Given the description of an element on the screen output the (x, y) to click on. 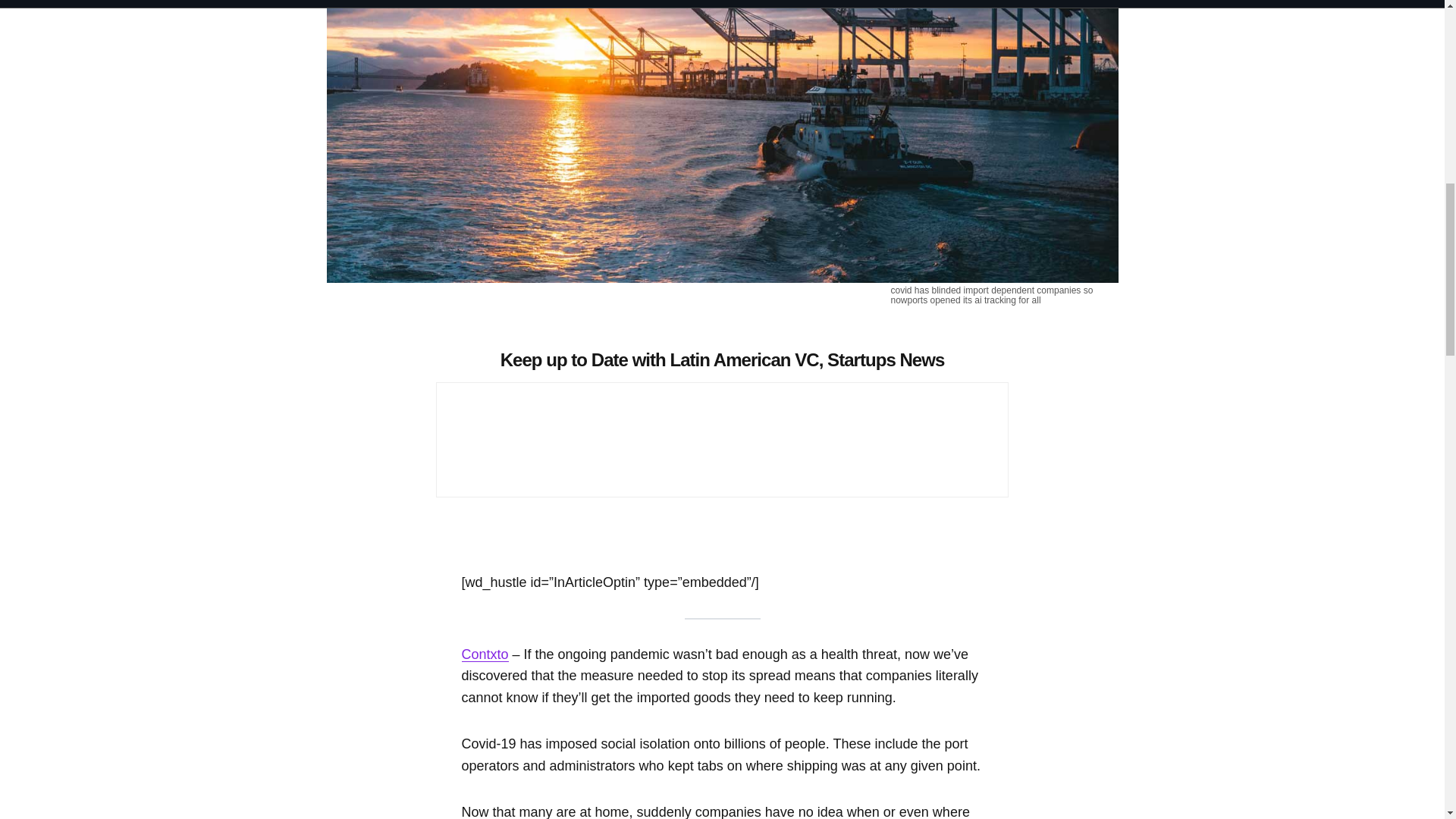
Contxto (484, 654)
